Given the description of an element on the screen output the (x, y) to click on. 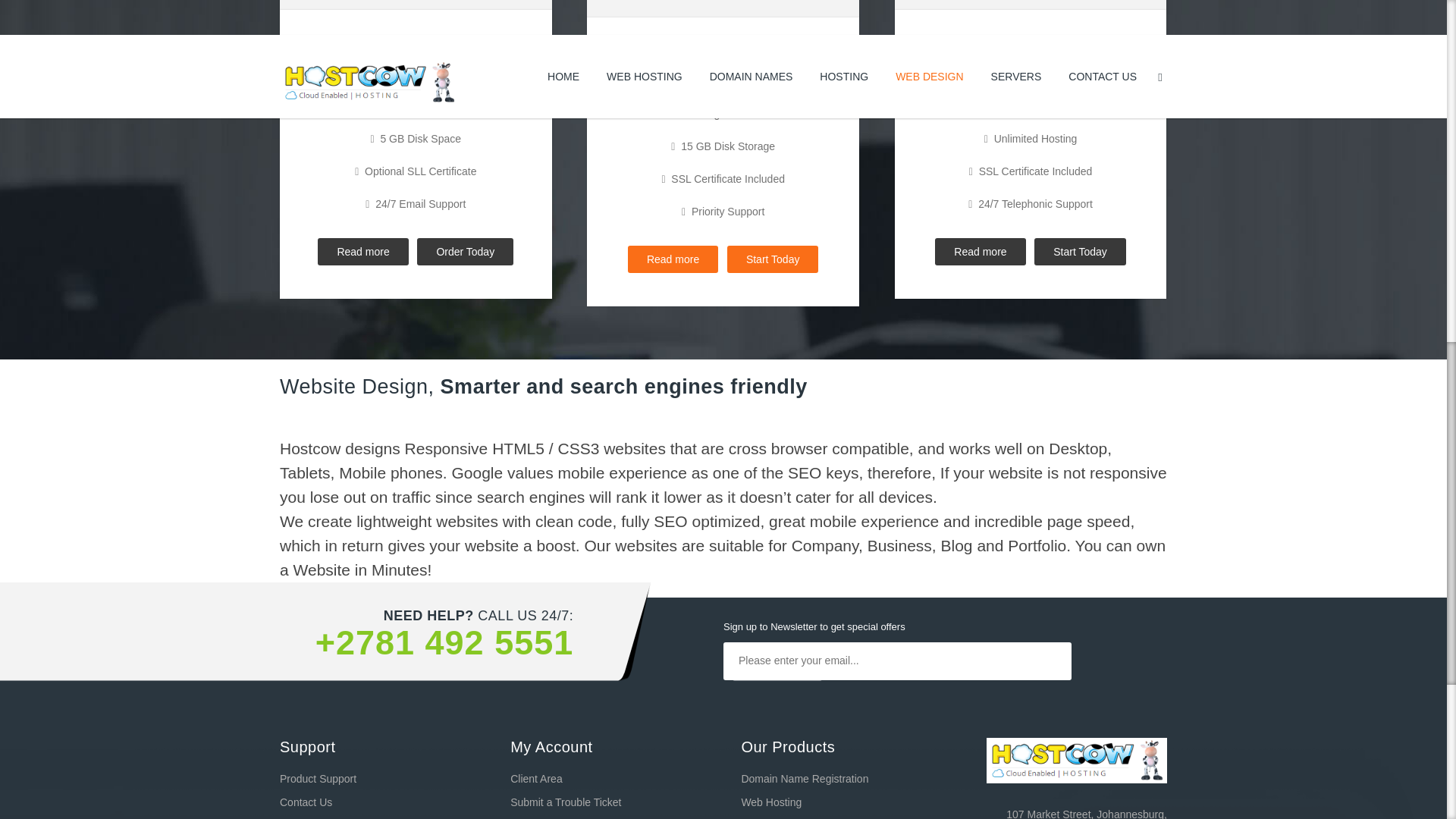
Sign Up (777, 699)
Read more (362, 251)
Read more (672, 258)
Read more (979, 251)
Order Today (464, 251)
Start Today (1079, 251)
Start Today (772, 258)
Sign Up (777, 699)
Product Support (317, 778)
Contact Us (305, 802)
